Given the description of an element on the screen output the (x, y) to click on. 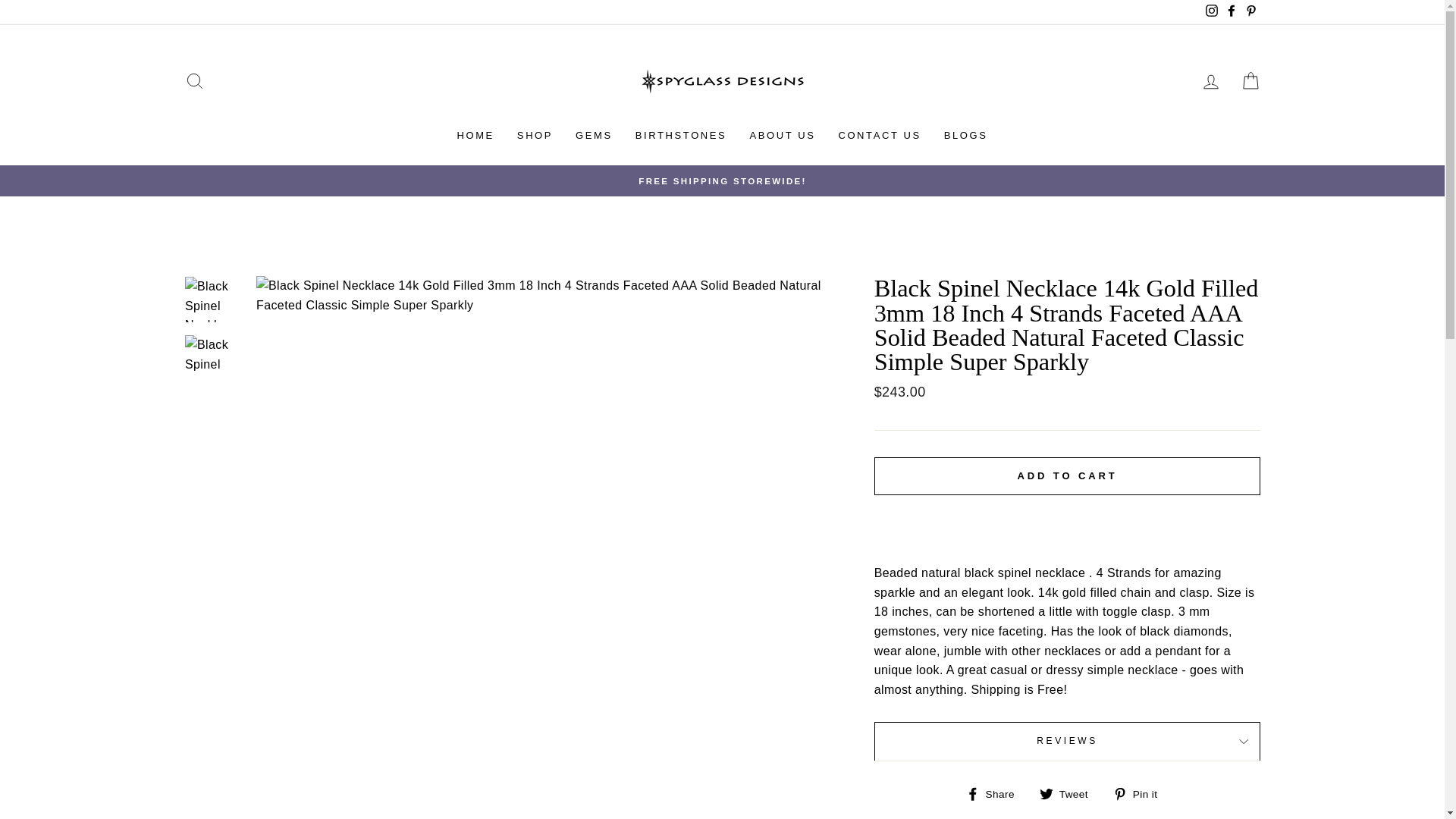
Pin on Pinterest (1141, 793)
Share on Facebook (996, 793)
Tweet on Twitter (1069, 793)
